Given the description of an element on the screen output the (x, y) to click on. 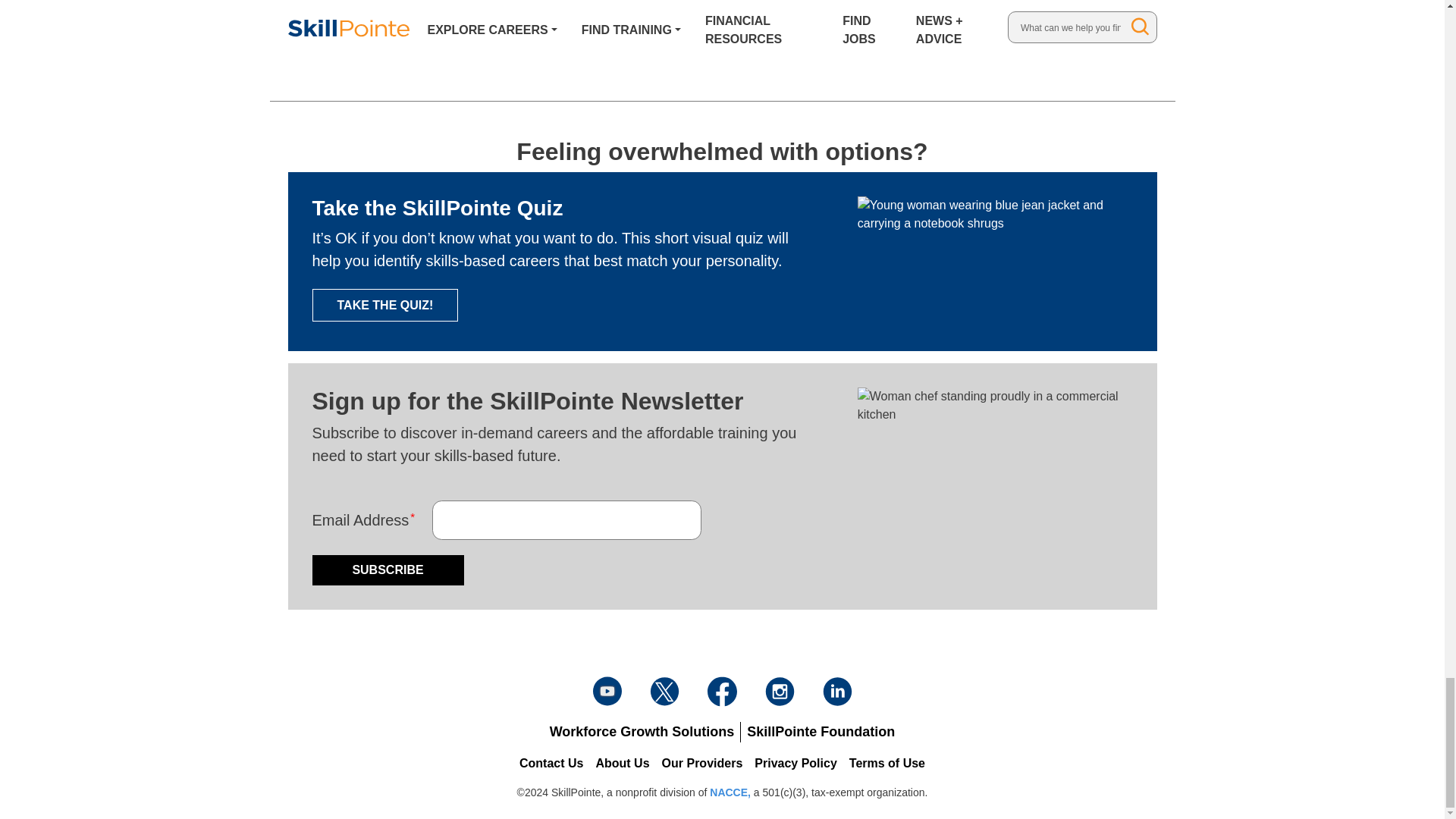
Subscribe (388, 570)
